Given the description of an element on the screen output the (x, y) to click on. 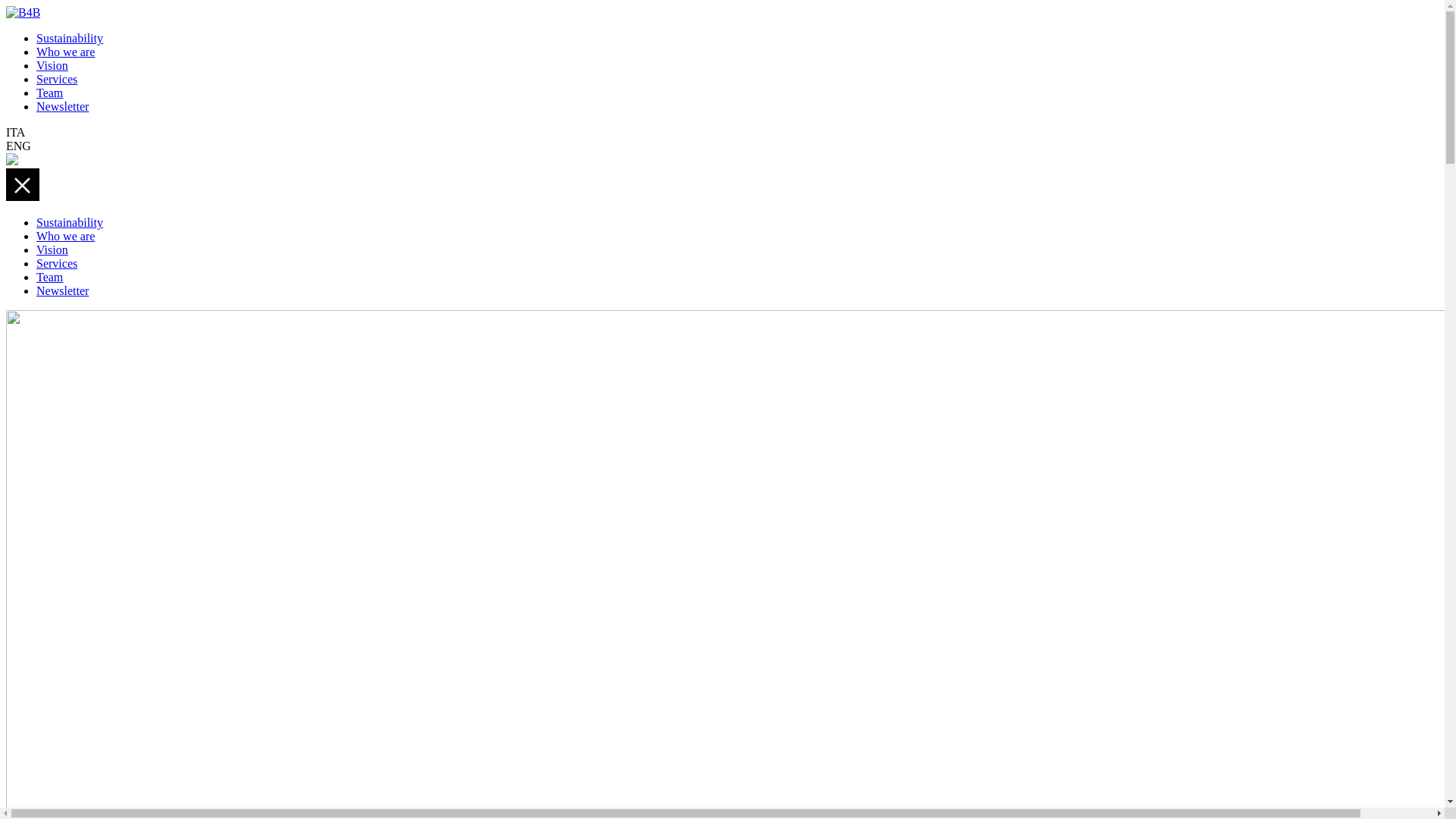
Newsletter Element type: text (62, 290)
Vision Element type: text (52, 249)
Vision Element type: text (52, 65)
Newsletter Element type: text (62, 106)
Team Element type: text (49, 276)
Who we are Element type: text (65, 235)
Sustainability Element type: text (69, 37)
Services Element type: text (56, 78)
Who we are Element type: text (65, 51)
Services Element type: text (56, 263)
Team Element type: text (49, 92)
Sustainability Element type: text (69, 222)
